Given the description of an element on the screen output the (x, y) to click on. 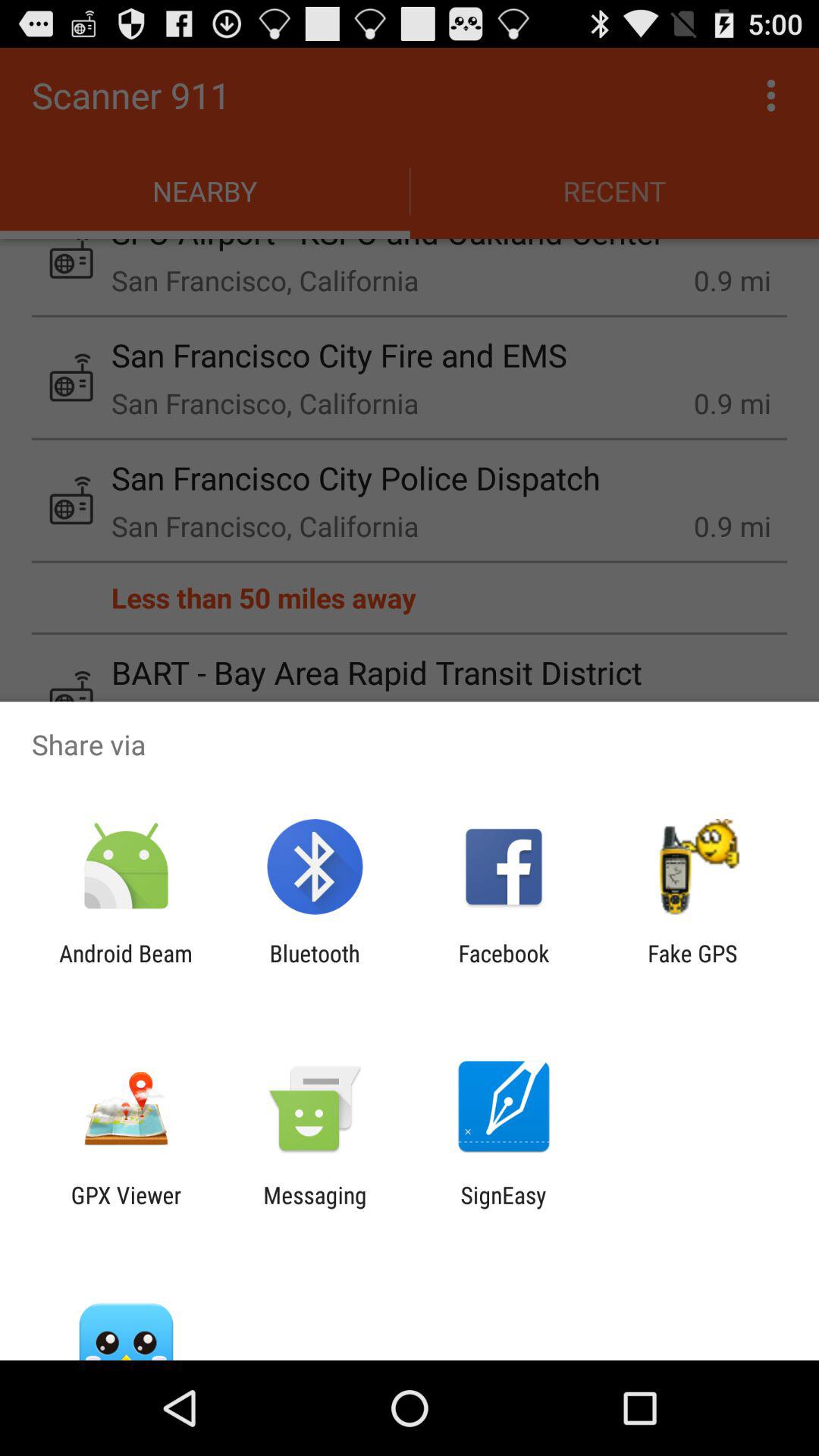
press the item to the right of the android beam item (314, 966)
